Given the description of an element on the screen output the (x, y) to click on. 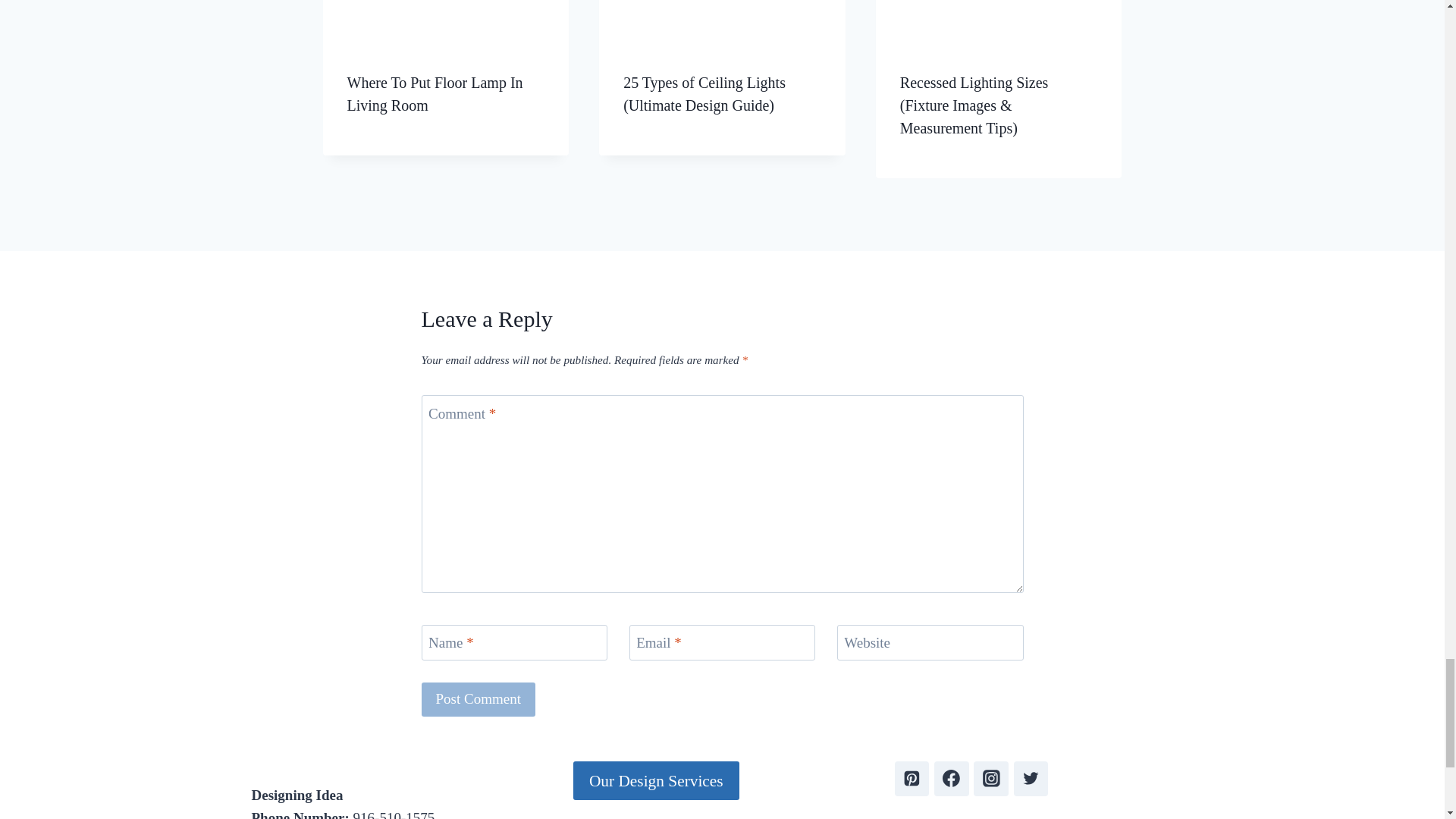
Post Comment (478, 699)
